Given the description of an element on the screen output the (x, y) to click on. 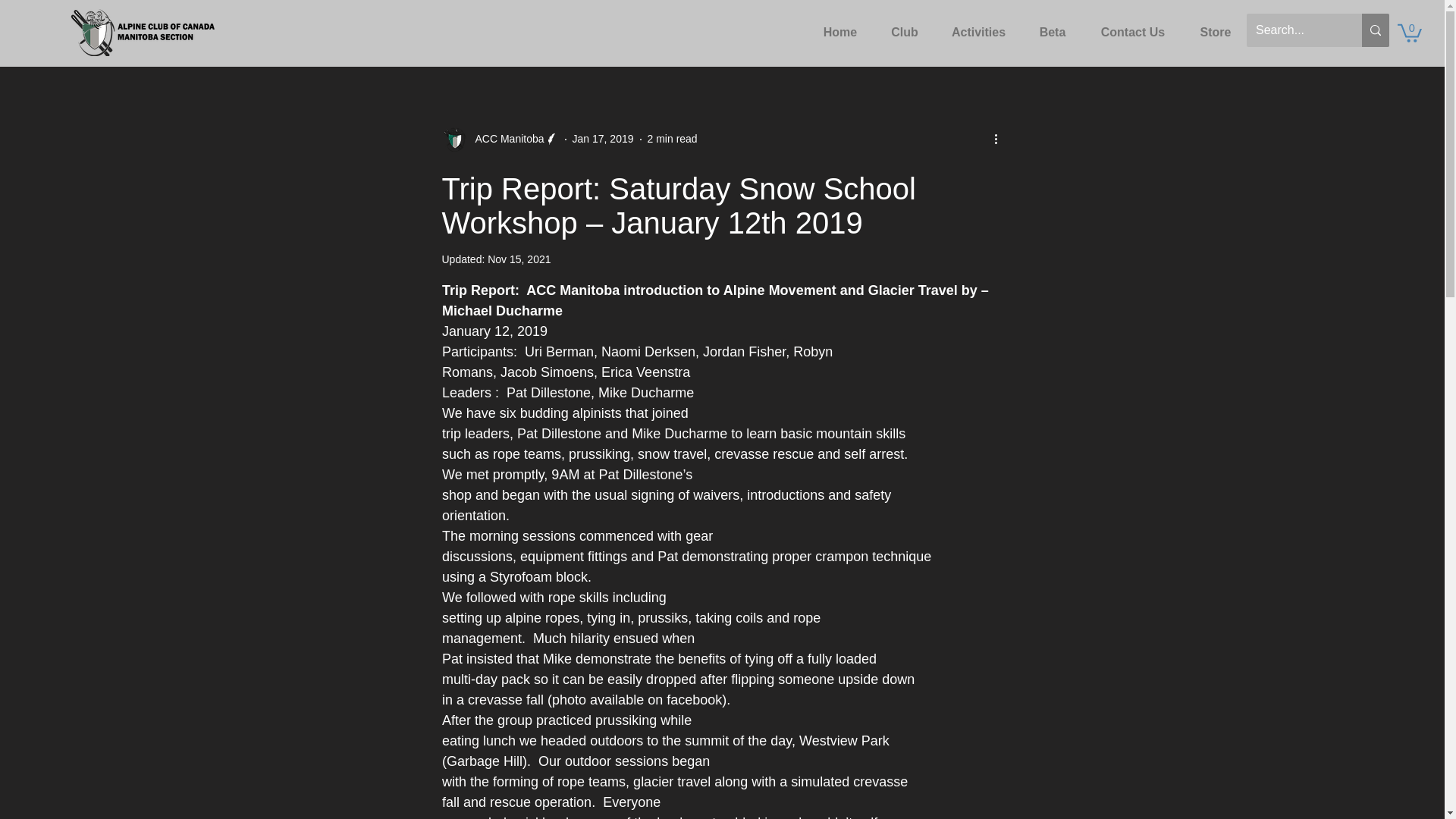
ACC Manitoba (504, 139)
2 min read (672, 138)
Nov 15, 2021 (518, 259)
Jan 17, 2019 (602, 138)
Home (840, 25)
0 (1409, 32)
ACC Manitoba (499, 139)
Store (1214, 25)
Contact Us (1132, 25)
0 (1409, 32)
